Given the description of an element on the screen output the (x, y) to click on. 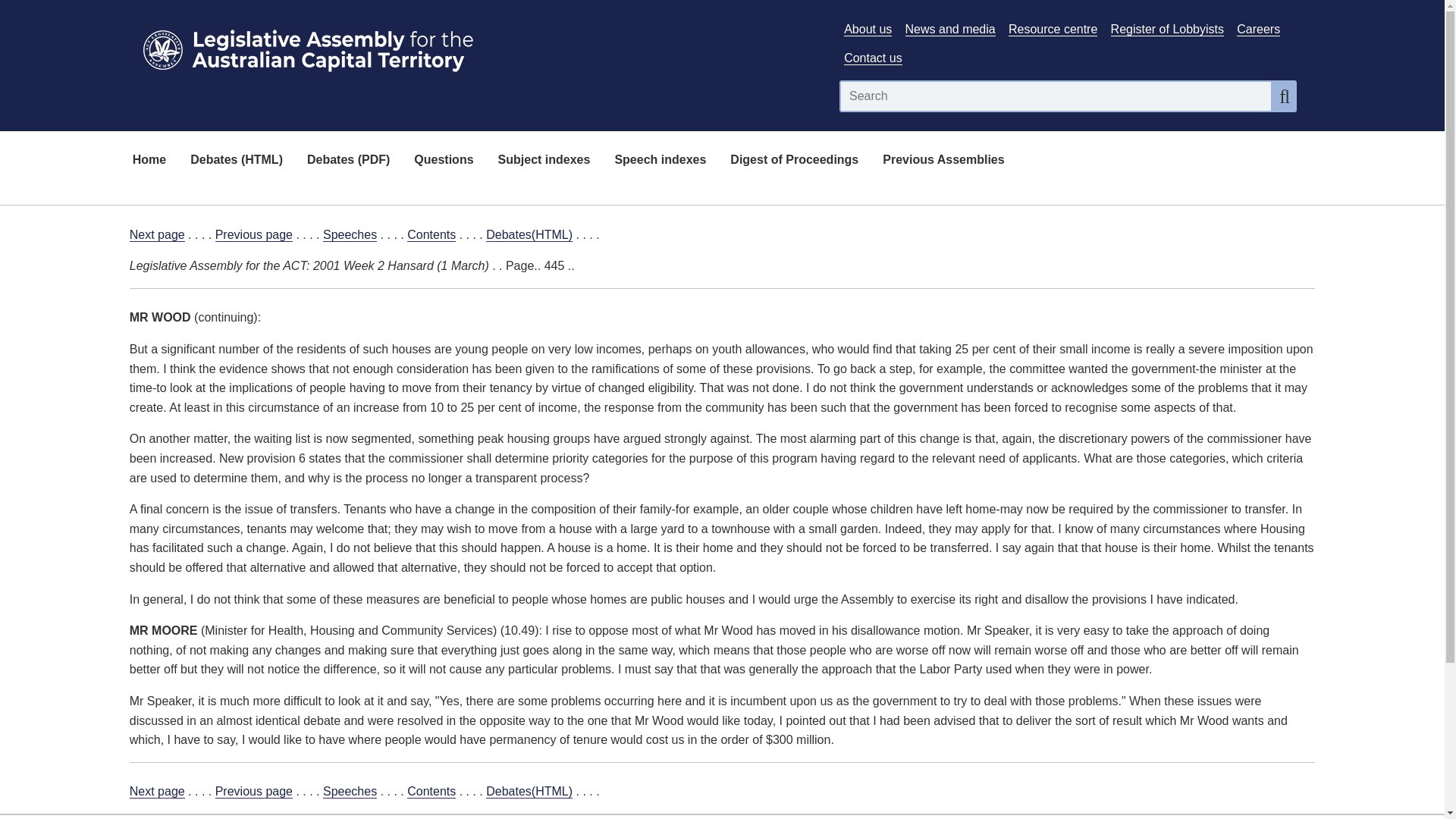
Contents (431, 234)
Careers (1257, 29)
Link to Register of Lobbyists (1167, 29)
Link to Careers (1257, 29)
Questions (442, 160)
Link to News and media (950, 29)
About us (867, 29)
Link to Homepage (475, 46)
Previous Assemblies (943, 160)
Register of Lobbyists (1167, 29)
Contact us (872, 58)
Link to About Us (867, 29)
Previous page (253, 791)
Search input field (1056, 96)
Subject indexes (544, 160)
